Given the description of an element on the screen output the (x, y) to click on. 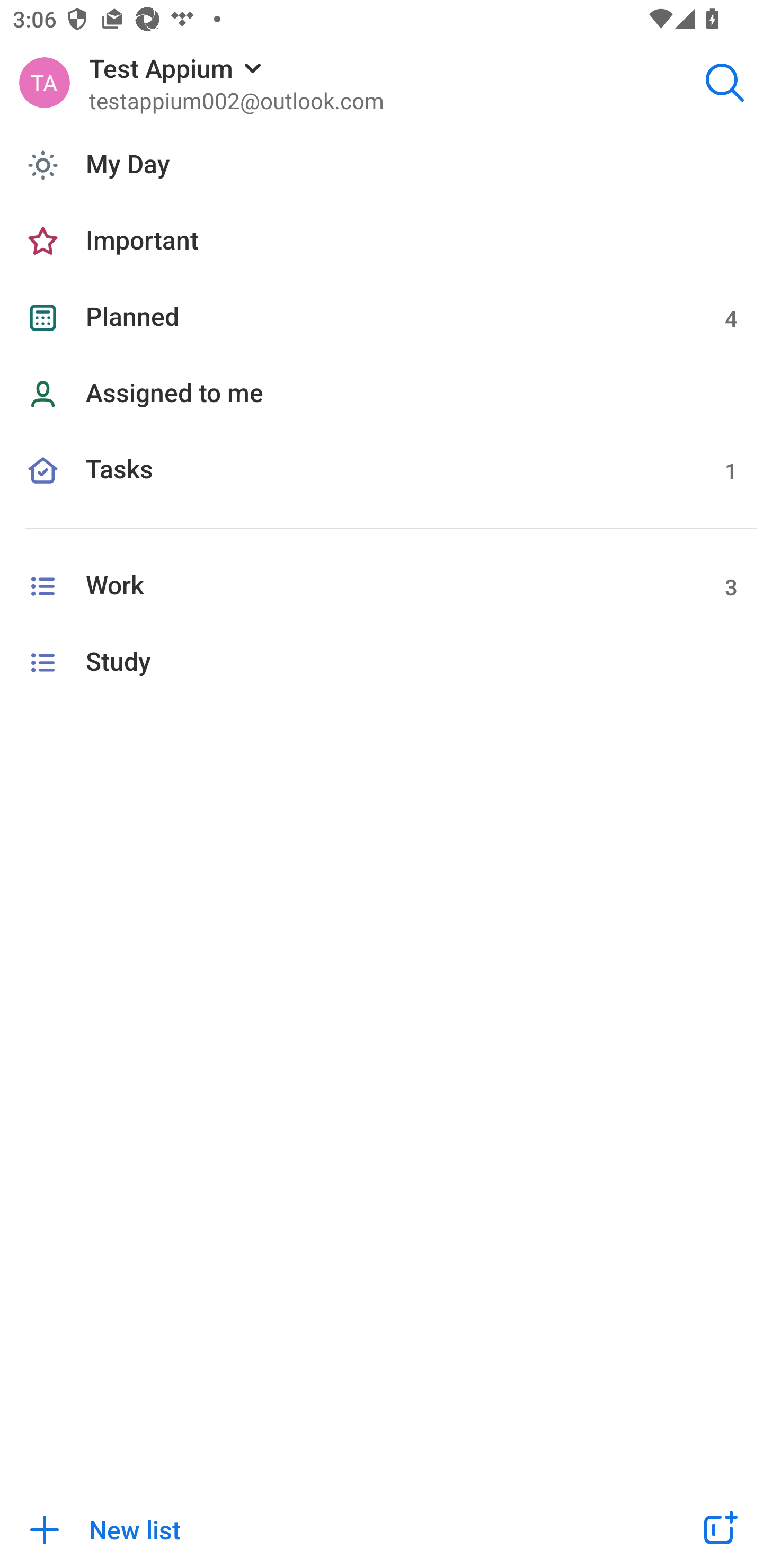
Create group (718, 1529)
